Given the description of an element on the screen output the (x, y) to click on. 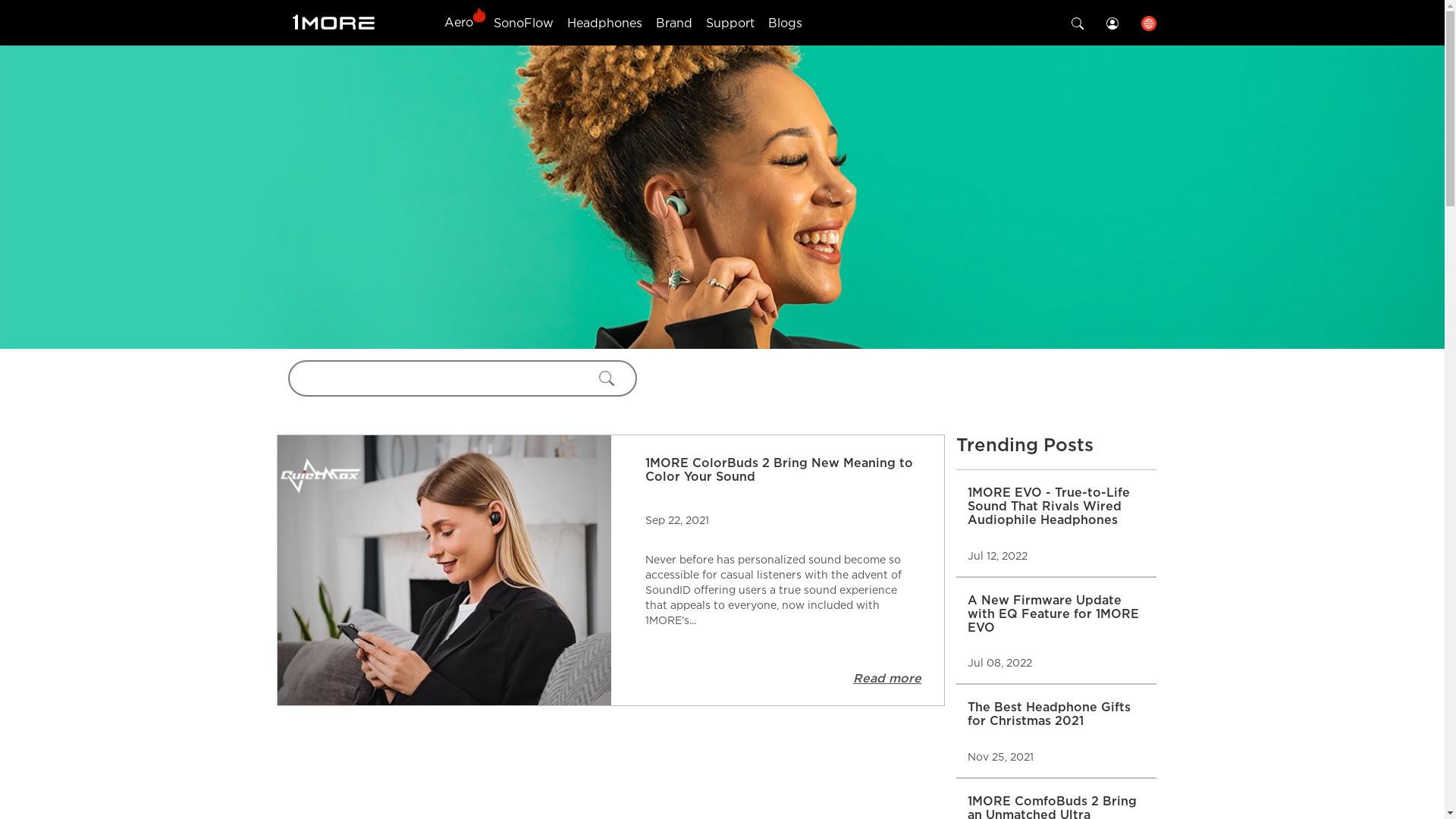
Blogs Element type: text (785, 22)
SonoFlow Element type: text (523, 22)
Read more Element type: text (887, 677)
Support Element type: text (730, 22)
Headphones Element type: text (604, 22)
The Best Headphone Gifts for Christmas 2021
Nov 25, 2021 Element type: text (1056, 731)
1MORE ColorBuds 2 Bring New Meaning to Color Your Sound Element type: text (783, 469)
Brand Element type: text (673, 22)
Aero Element type: text (458, 21)
